Given the description of an element on the screen output the (x, y) to click on. 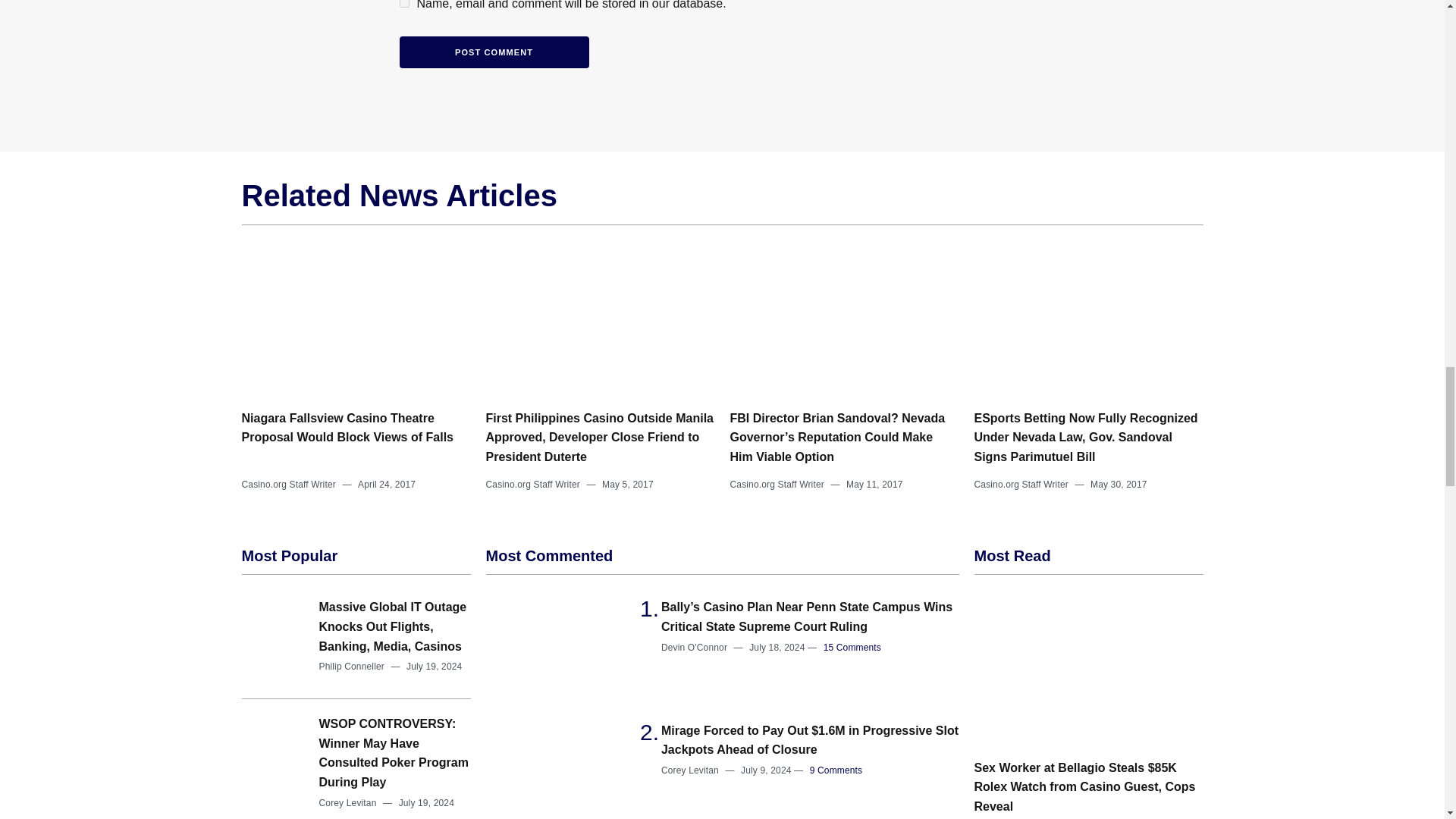
Post Comment (493, 52)
yes (403, 3)
